Given the description of an element on the screen output the (x, y) to click on. 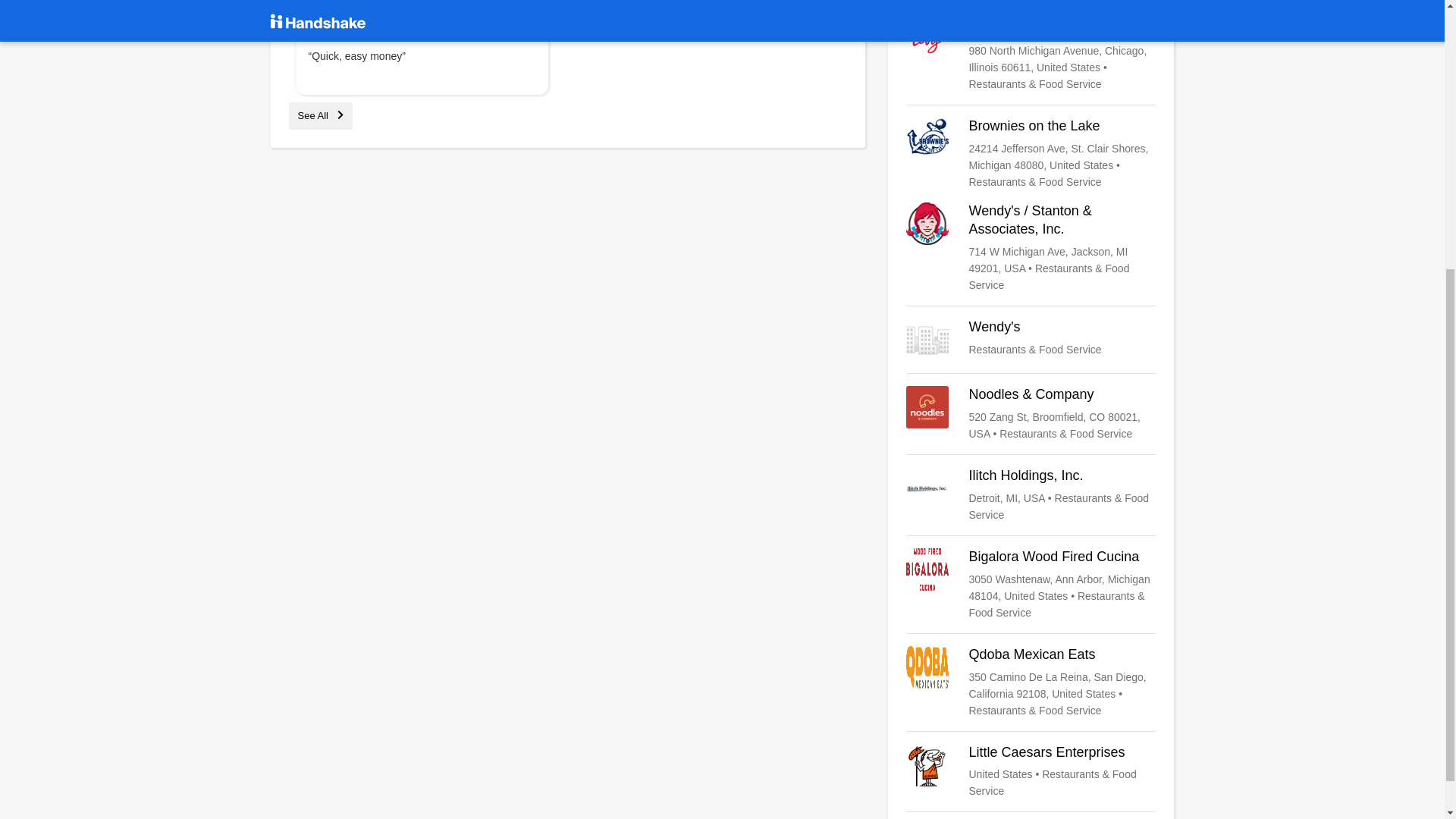
Qdoba Mexican Eats (1030, 682)
See All (320, 115)
Levy (1030, 55)
Brownies on the Lake (1030, 153)
Wendy's (1030, 339)
Ilitch Holdings, Inc. (1030, 494)
Little Caesars Enterprises (1030, 771)
Bigalora Wood Fired Cucina (1030, 583)
